Given the description of an element on the screen output the (x, y) to click on. 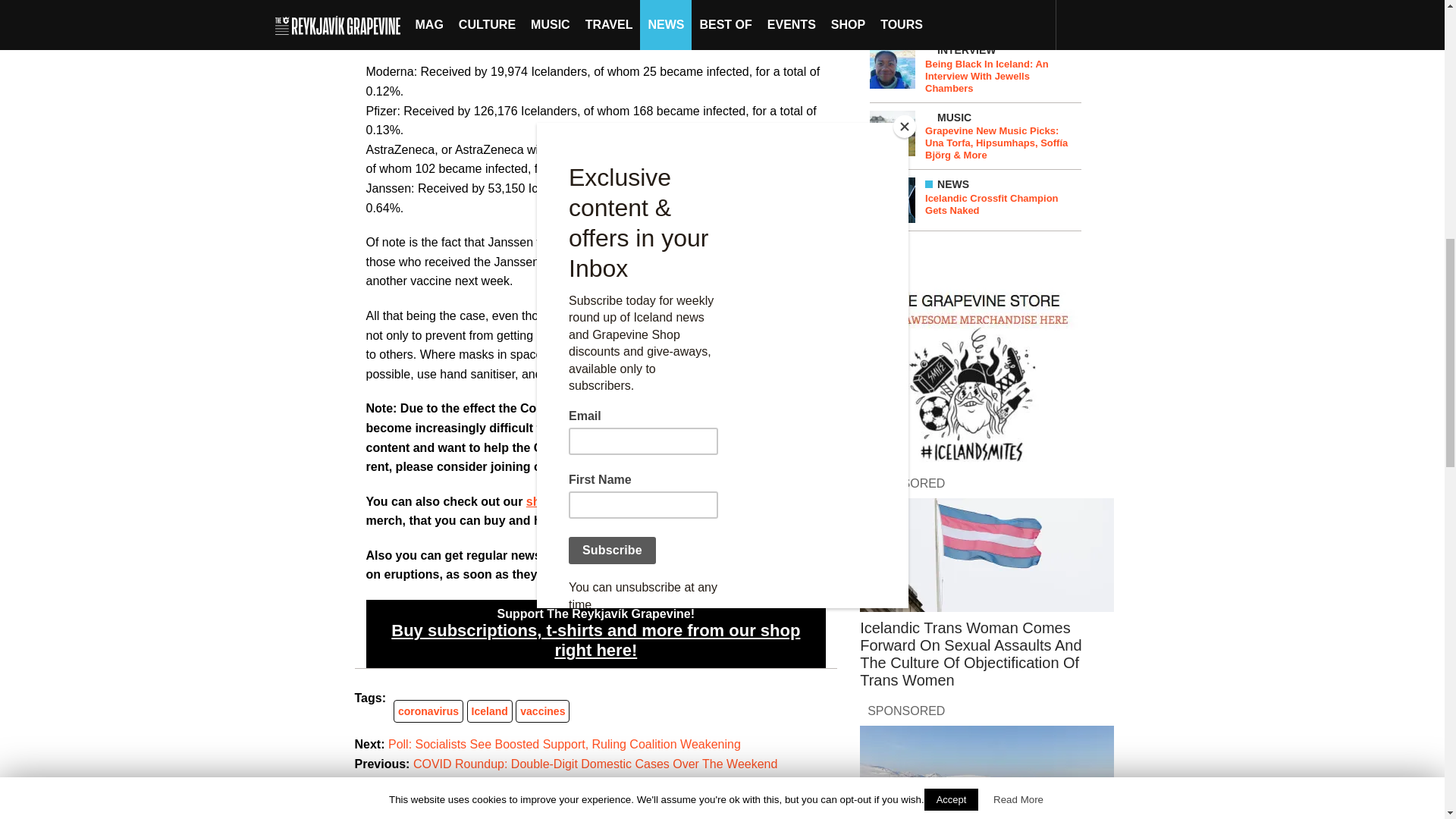
newsletter (746, 574)
vaccines (541, 711)
shop (539, 501)
as reported (786, 241)
coronavirus (427, 711)
Iceland (489, 711)
COVID Roundup: Double-Digit Domestic Cases Over The Weekend (595, 763)
High Five Club (599, 466)
